Given the description of an element on the screen output the (x, y) to click on. 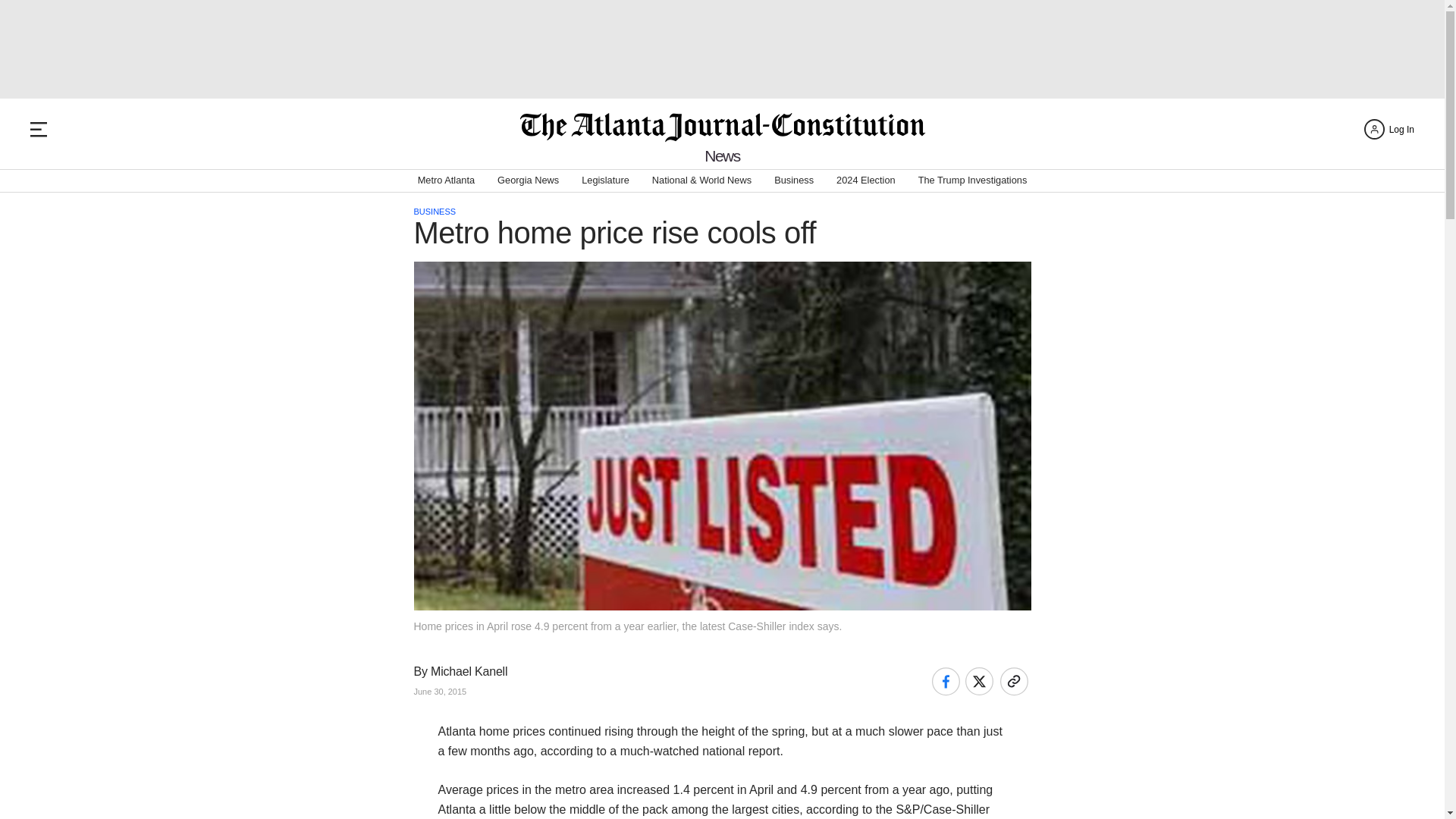
Legislature (604, 180)
2024 Election (865, 180)
Georgia News (528, 180)
Metro Atlanta (445, 180)
The Trump Investigations (972, 180)
News (721, 155)
Business (793, 180)
